Given the description of an element on the screen output the (x, y) to click on. 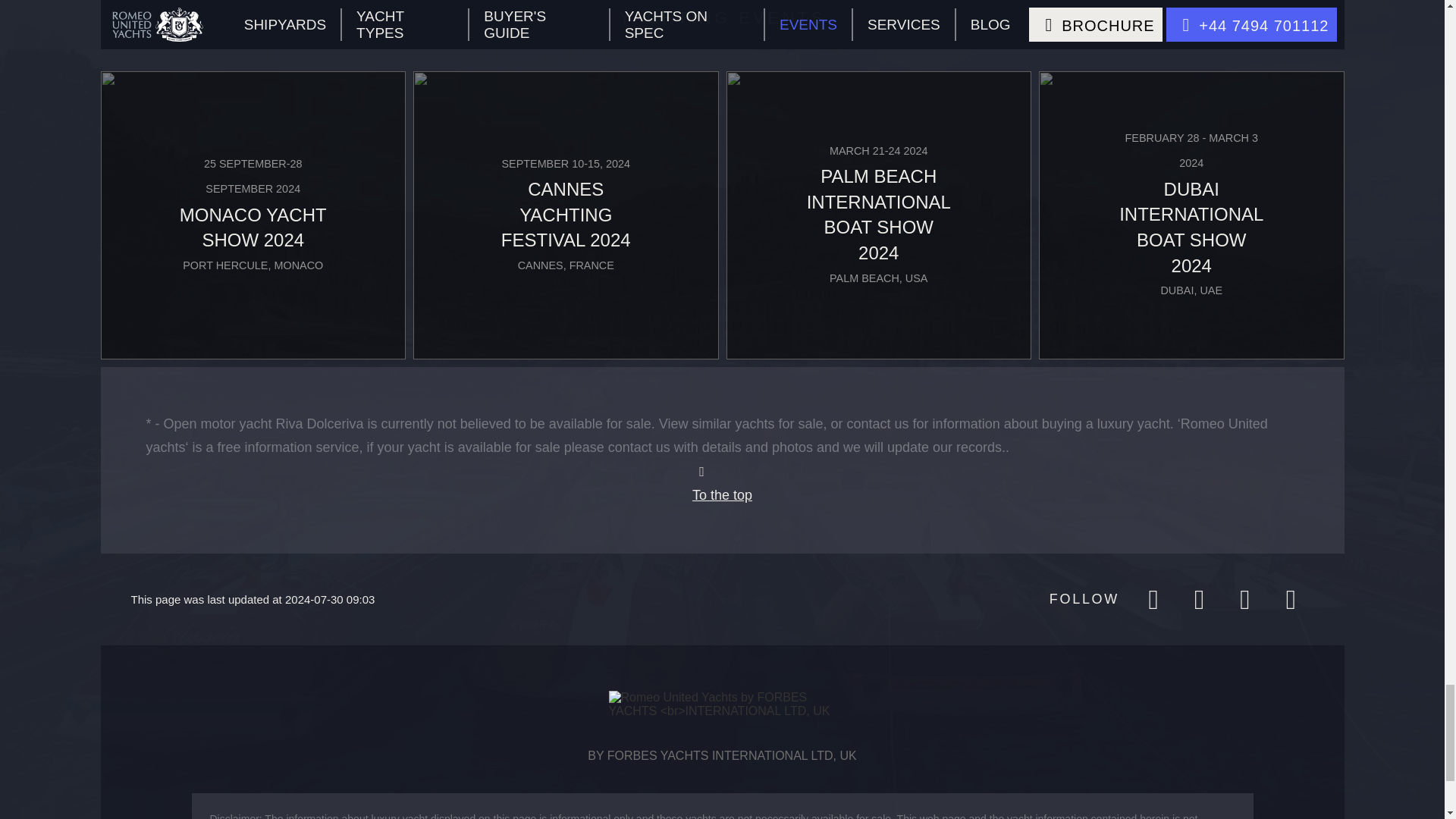
Twitter (1244, 599)
Facebook (1153, 599)
To the top (722, 483)
Instagram (1198, 599)
Pinterest (1289, 599)
